Given the description of an element on the screen output the (x, y) to click on. 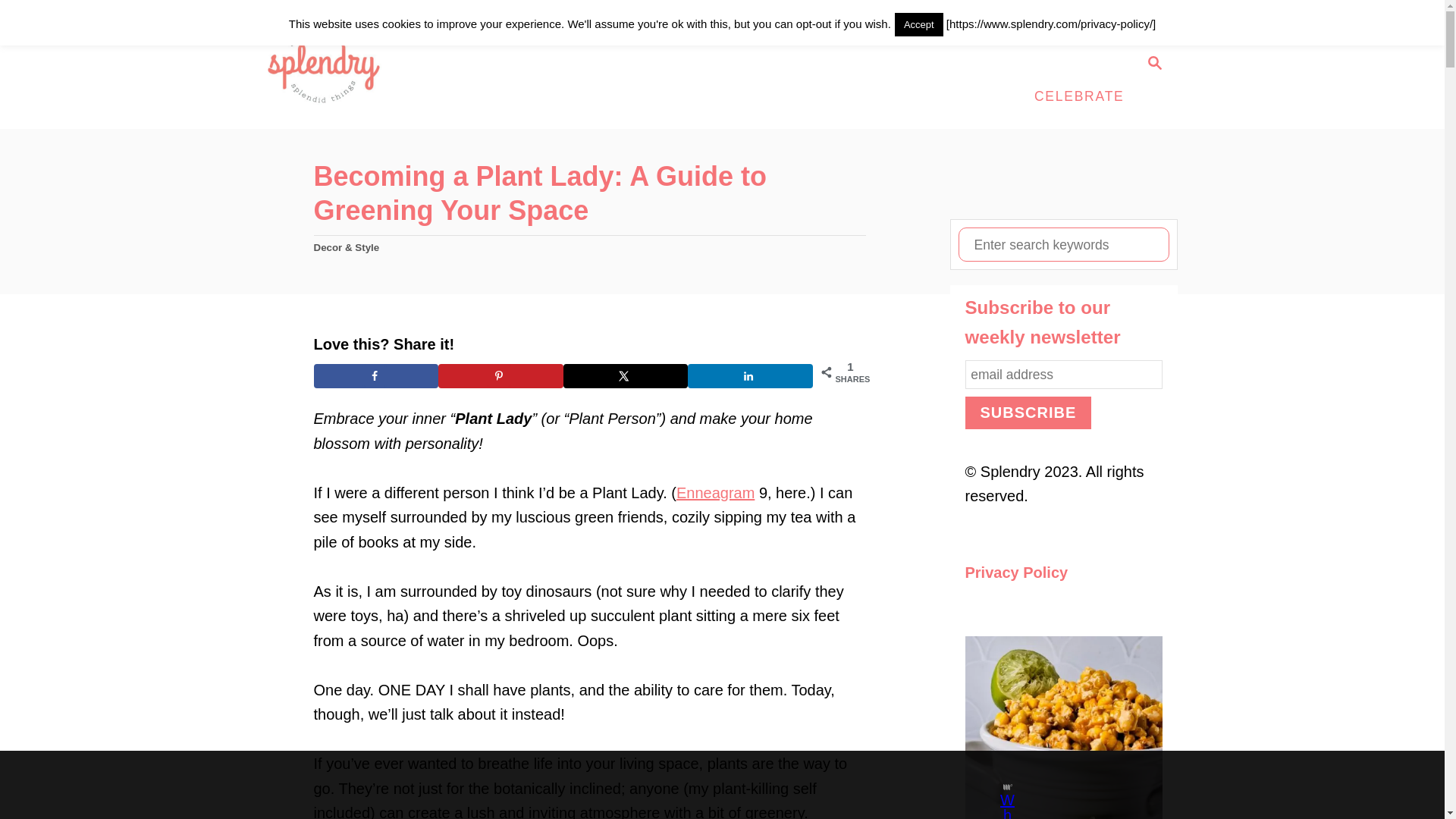
Subscribe (1026, 412)
Share on Facebook (376, 375)
Search for: (1063, 244)
SPLENDRY (609, 32)
3rd party ad content (708, 785)
ENTERTAINMENT (932, 32)
Splendry (375, 64)
LIVING (1098, 32)
Share on X (624, 375)
Share on LinkedIn (749, 375)
SEARCH (1153, 63)
Save to Pinterest (500, 375)
FOOD (687, 32)
HOME (1034, 32)
